Given the description of an element on the screen output the (x, y) to click on. 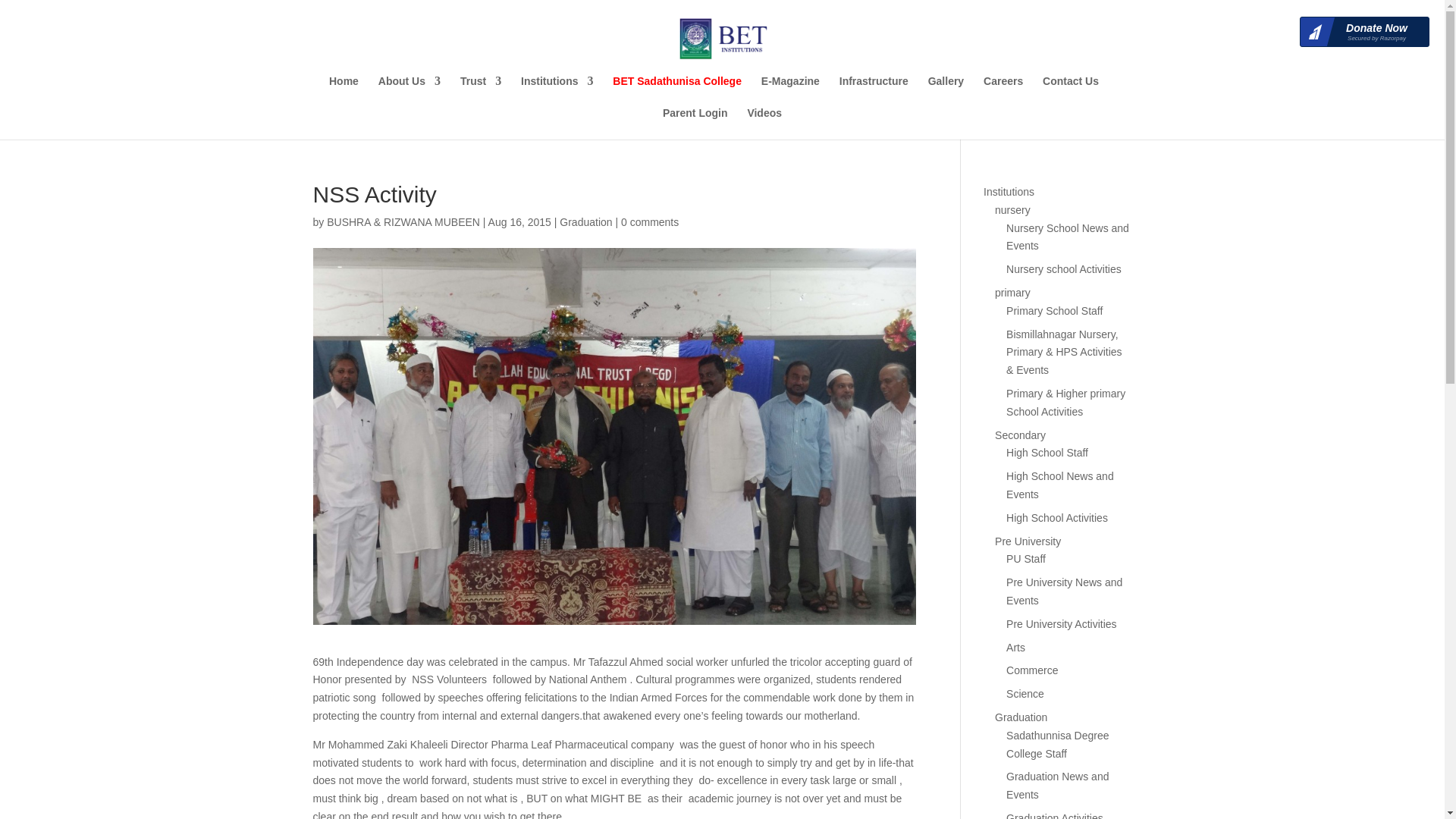
Home (343, 91)
About Us (409, 91)
Institutions (556, 91)
Trust (480, 91)
